Given the description of an element on the screen output the (x, y) to click on. 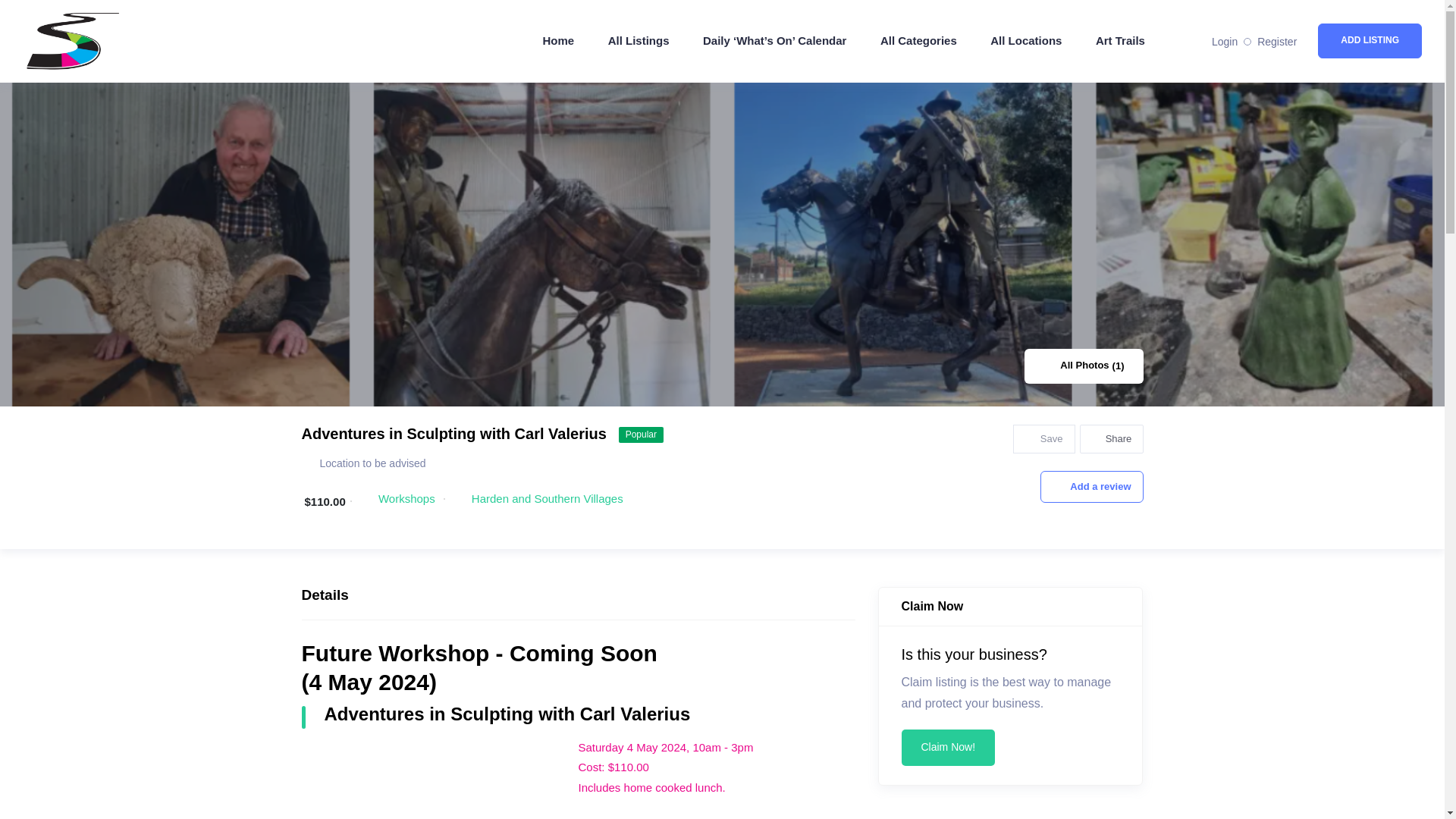
Add a review (1091, 486)
All Categories (918, 41)
Harden and Southern Villages (547, 498)
All Locations (1026, 41)
Workshops (406, 498)
Art Trails (1120, 41)
All Listings (638, 41)
Login (1224, 41)
Register (1277, 41)
ADD LISTING (1369, 40)
Home (566, 41)
